Given the description of an element on the screen output the (x, y) to click on. 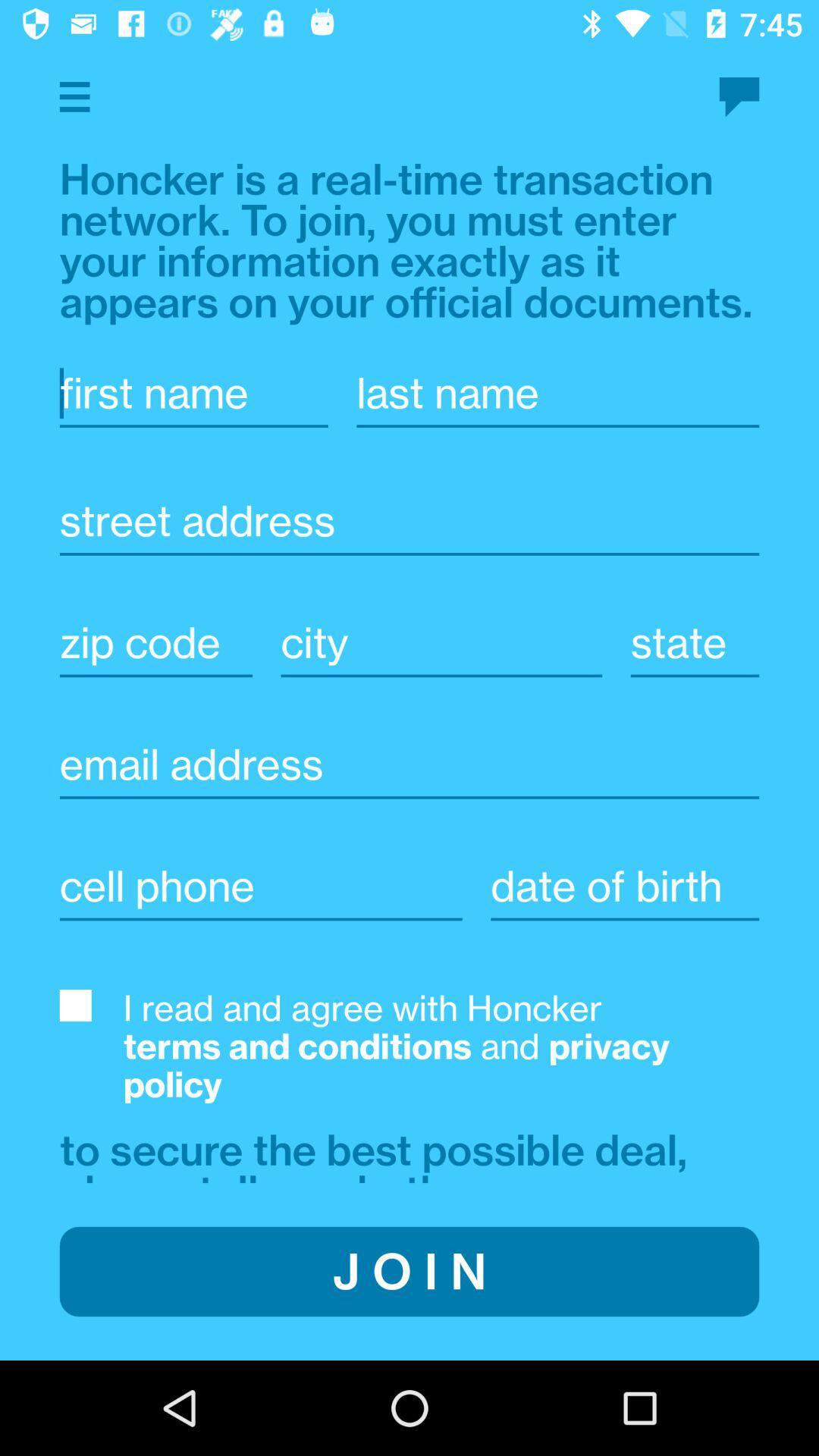
enter address (409, 520)
